Given the description of an element on the screen output the (x, y) to click on. 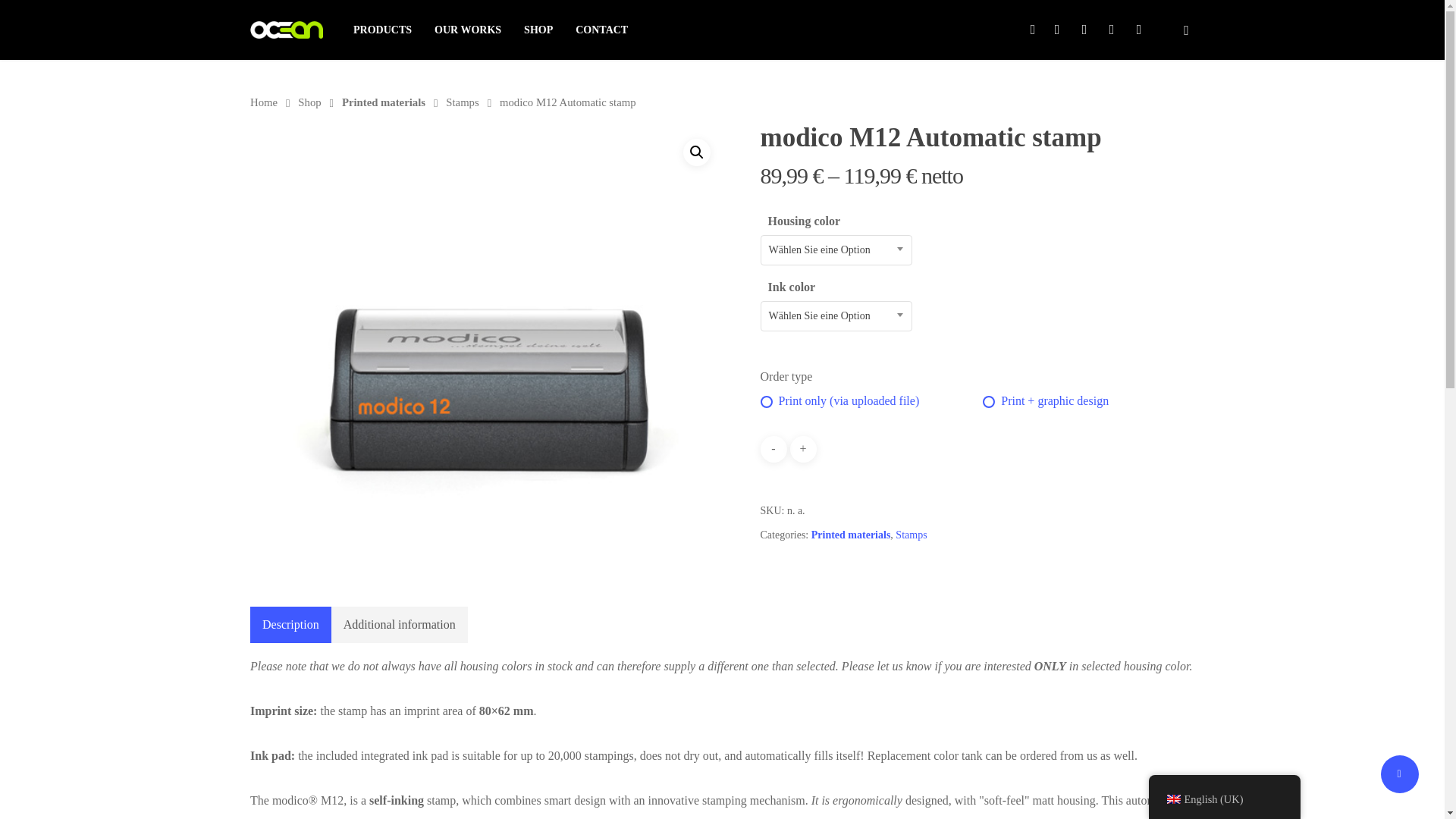
- (773, 448)
Home (264, 102)
SHOP (538, 30)
Stamps (462, 102)
PRODUCTS (382, 30)
Shop (309, 102)
CONTACT (601, 30)
OUR WORKS (466, 30)
Printed materials (383, 102)
